Given the description of an element on the screen output the (x, y) to click on. 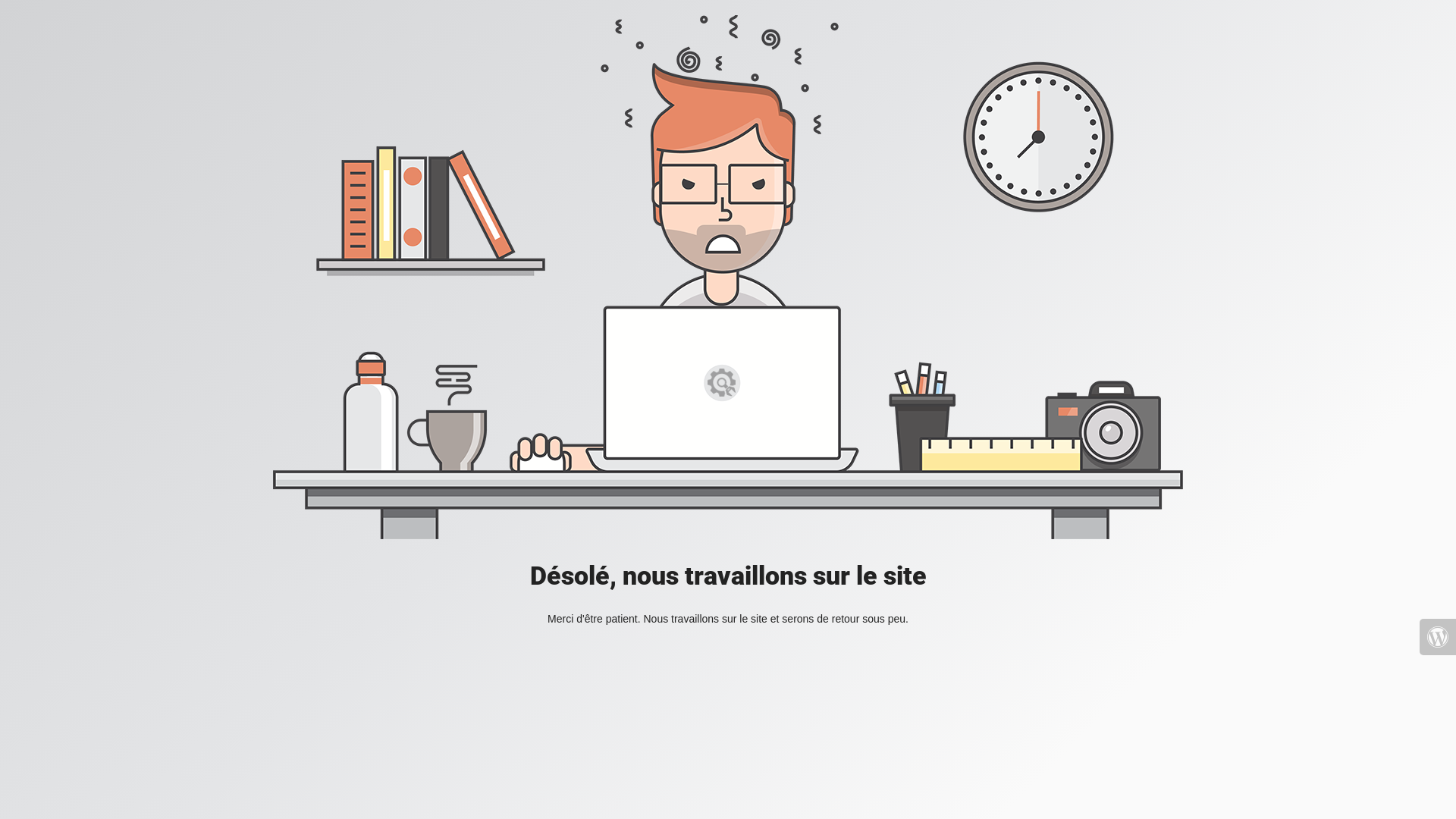
Mad Designer at work Element type: hover (728, 277)
